Given the description of an element on the screen output the (x, y) to click on. 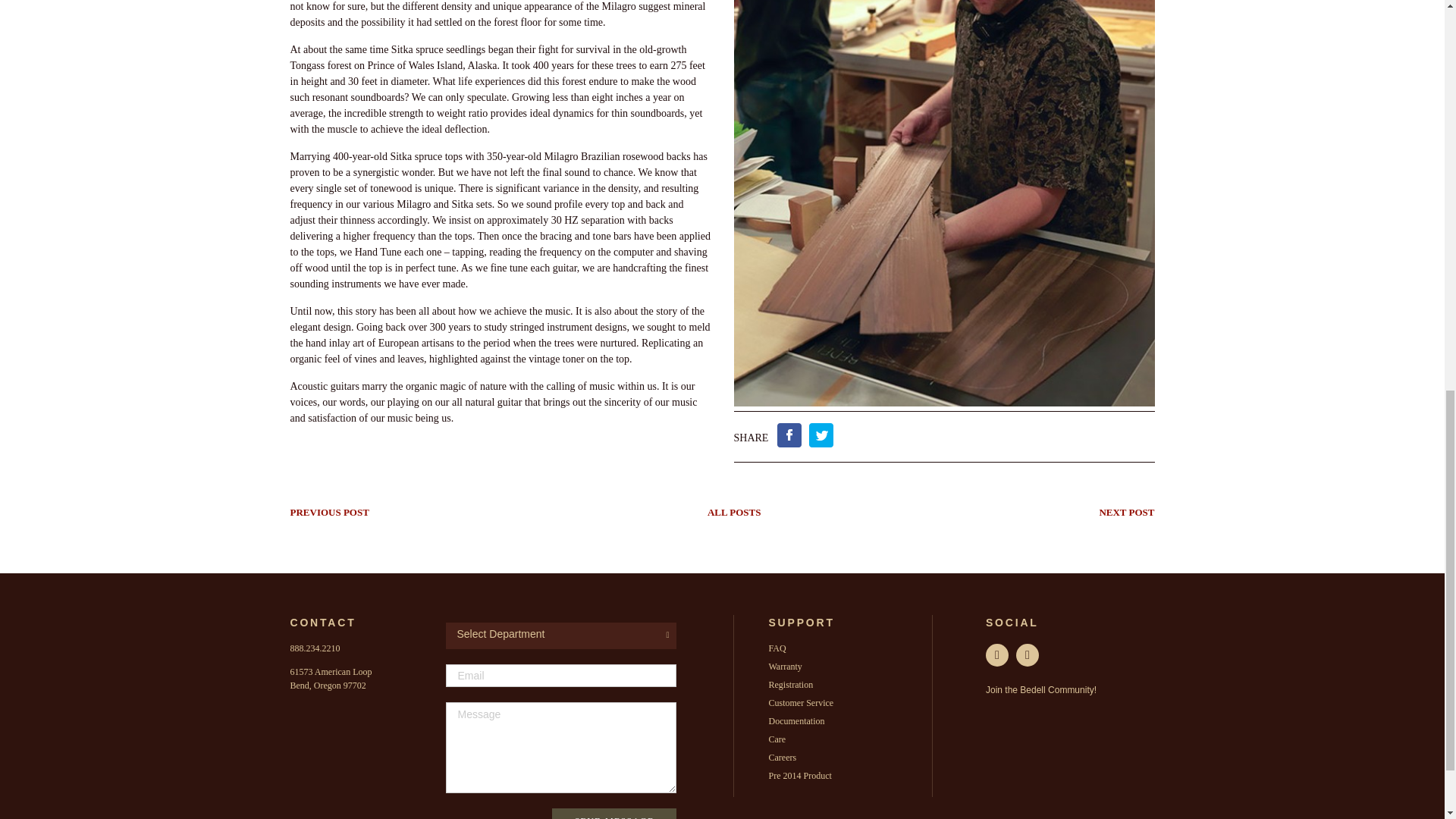
Colorado (327, 685)
FAQ (777, 647)
Warranty (785, 665)
Care (777, 738)
Documentation (796, 720)
NEXT POST (1126, 511)
ALL POSTS (733, 511)
SEND MESSAGE (614, 813)
PREVIOUS POST (328, 511)
Customer Service (800, 702)
